Given the description of an element on the screen output the (x, y) to click on. 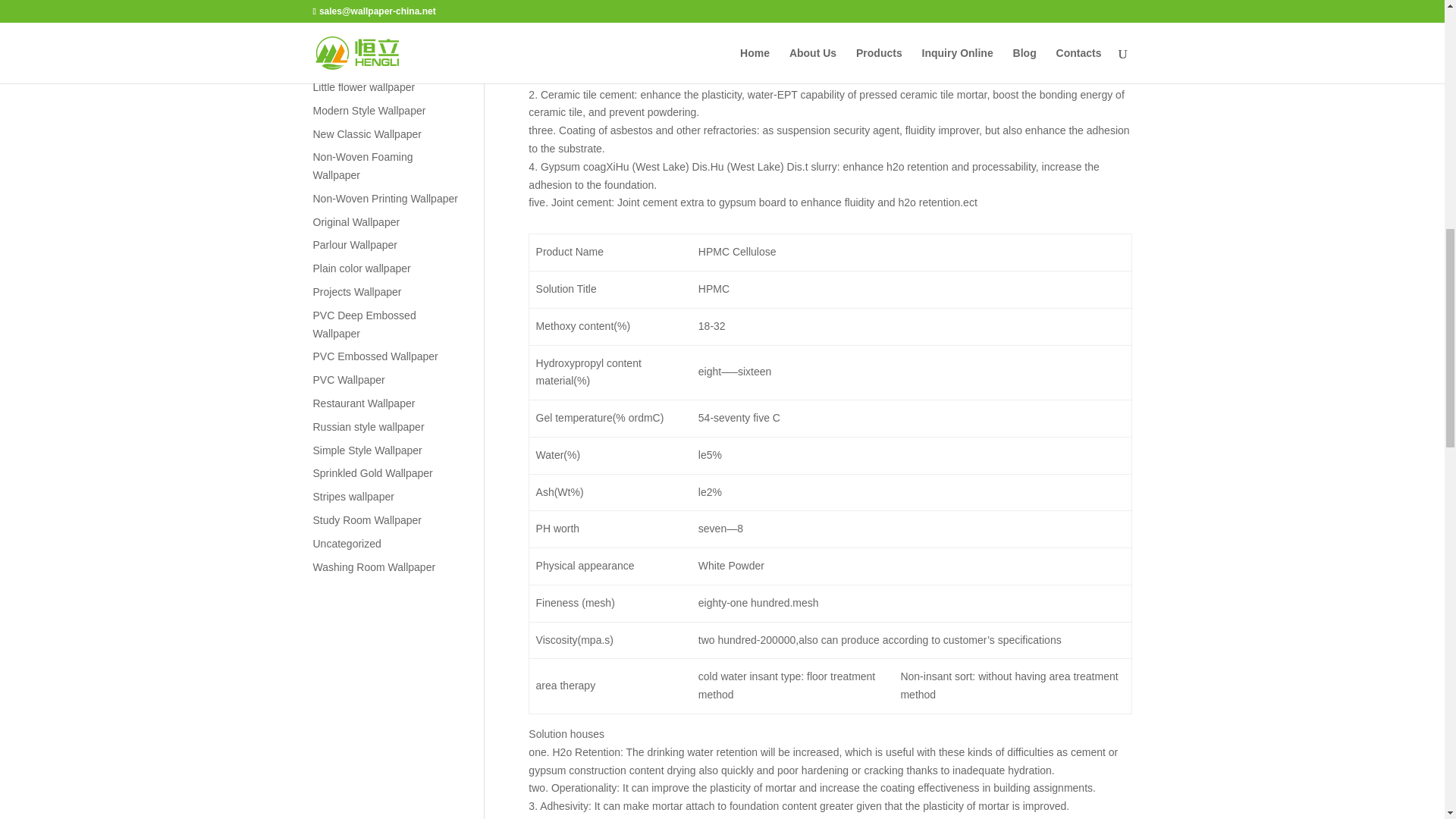
Korean style wallpaper (366, 63)
Kids Room Wallpaper (363, 17)
Kitchen Wallpaper (355, 39)
